Given the description of an element on the screen output the (x, y) to click on. 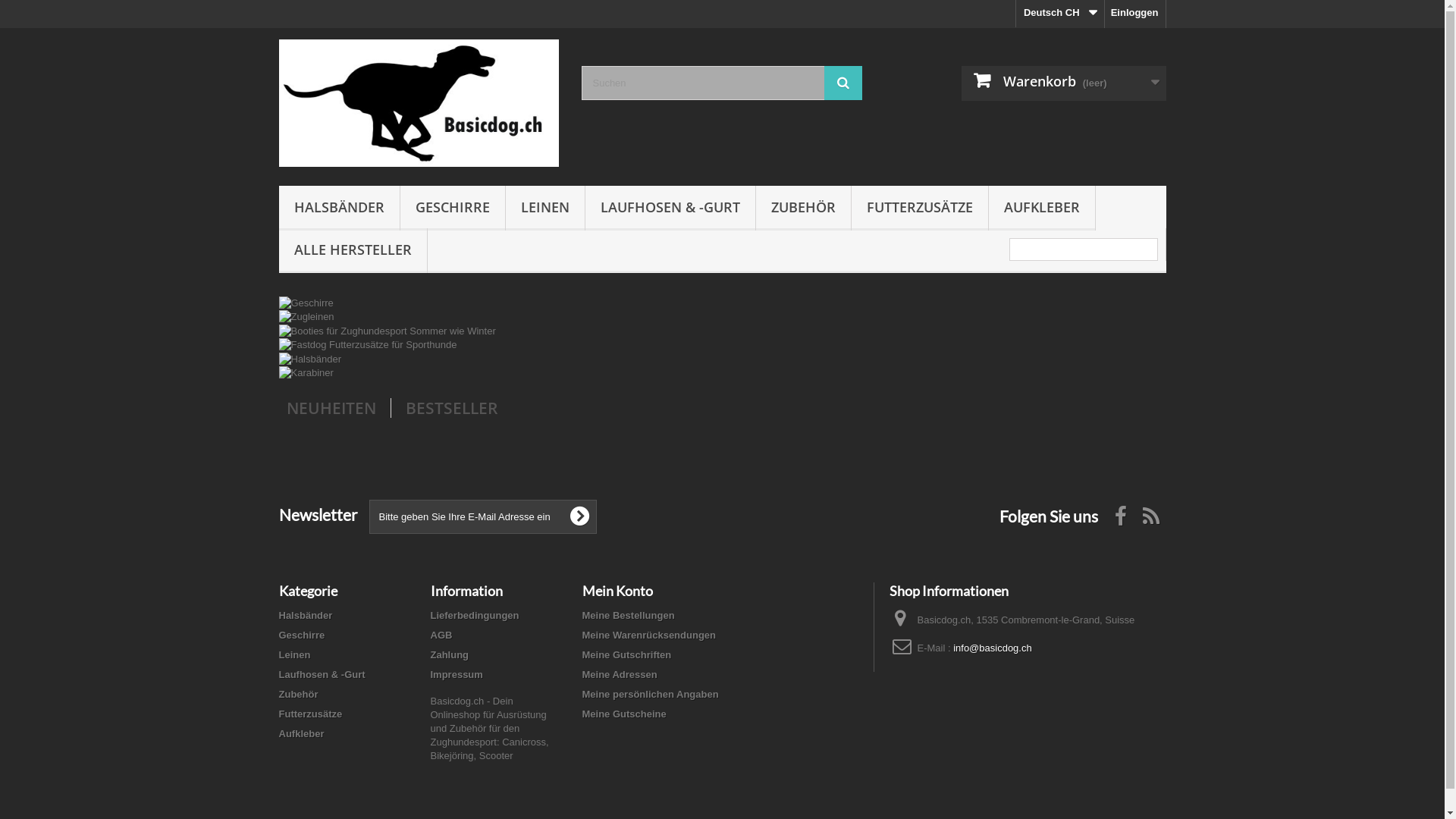
LAUFHOSEN & -GURT Element type: text (670, 207)
ALLE HERSTELLER Element type: text (352, 250)
AGB Element type: text (441, 634)
info@basicdog.ch Element type: text (992, 647)
NEUHEITEN Element type: text (331, 407)
Geschirre Element type: hover (306, 301)
Zahlung Element type: text (449, 654)
Lieferbedingungen Element type: text (474, 615)
BESTSELLER Element type: text (450, 407)
Aufkleber Element type: text (301, 733)
Leinen Element type: text (294, 654)
Geschirre Element type: text (302, 634)
Zugleinen Element type: hover (306, 316)
Meine Gutscheine Element type: text (624, 713)
Meine Gutschriften Element type: text (626, 654)
Laufhosen & -Gurt Element type: text (322, 674)
Basicdog.ch Element type: hover (419, 102)
AUFKLEBER Element type: text (1041, 207)
GESCHIRRE Element type: text (452, 207)
LEINEN Element type: text (544, 207)
Meine Adressen Element type: text (619, 674)
Impressum Element type: text (456, 674)
Meine Bestellungen Element type: text (628, 615)
Warenkorb (leer) Element type: text (1063, 82)
Mein Konto Element type: text (617, 590)
Einloggen Element type: text (1134, 14)
Karabiner Element type: hover (306, 372)
